Given the description of an element on the screen output the (x, y) to click on. 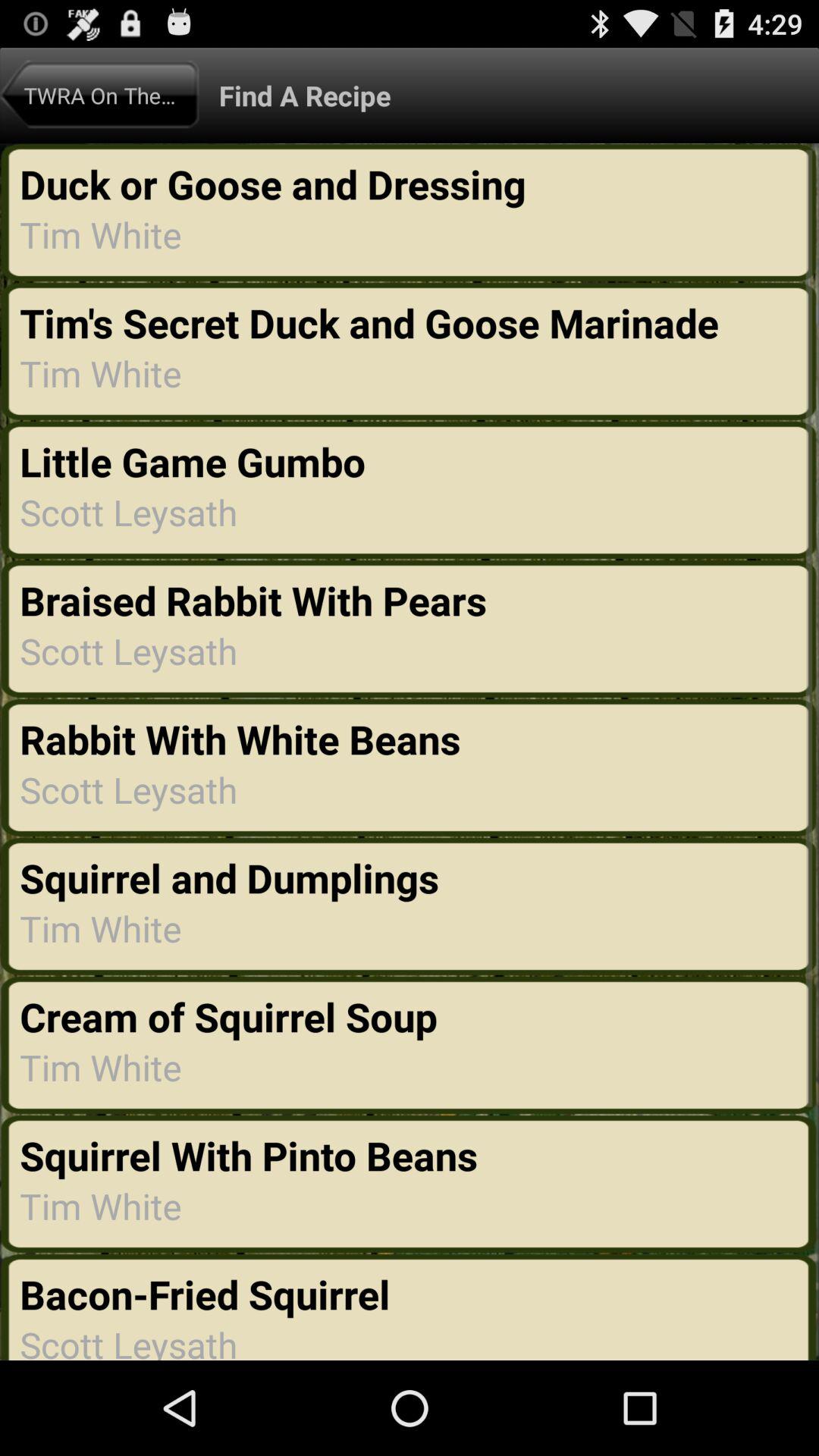
jump until little game gumbo  icon (197, 461)
